Given the description of an element on the screen output the (x, y) to click on. 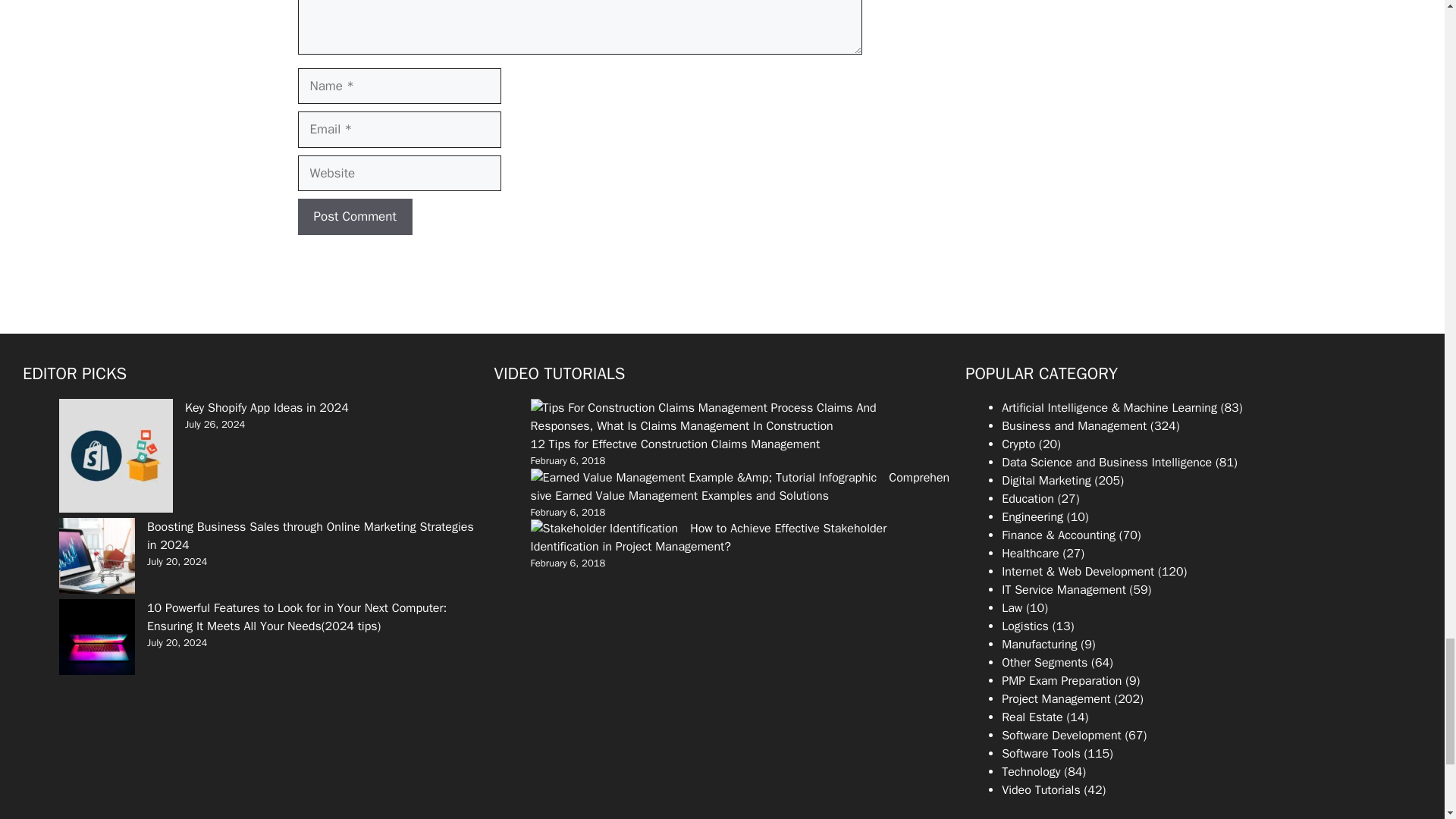
Post Comment (354, 217)
